Given the description of an element on the screen output the (x, y) to click on. 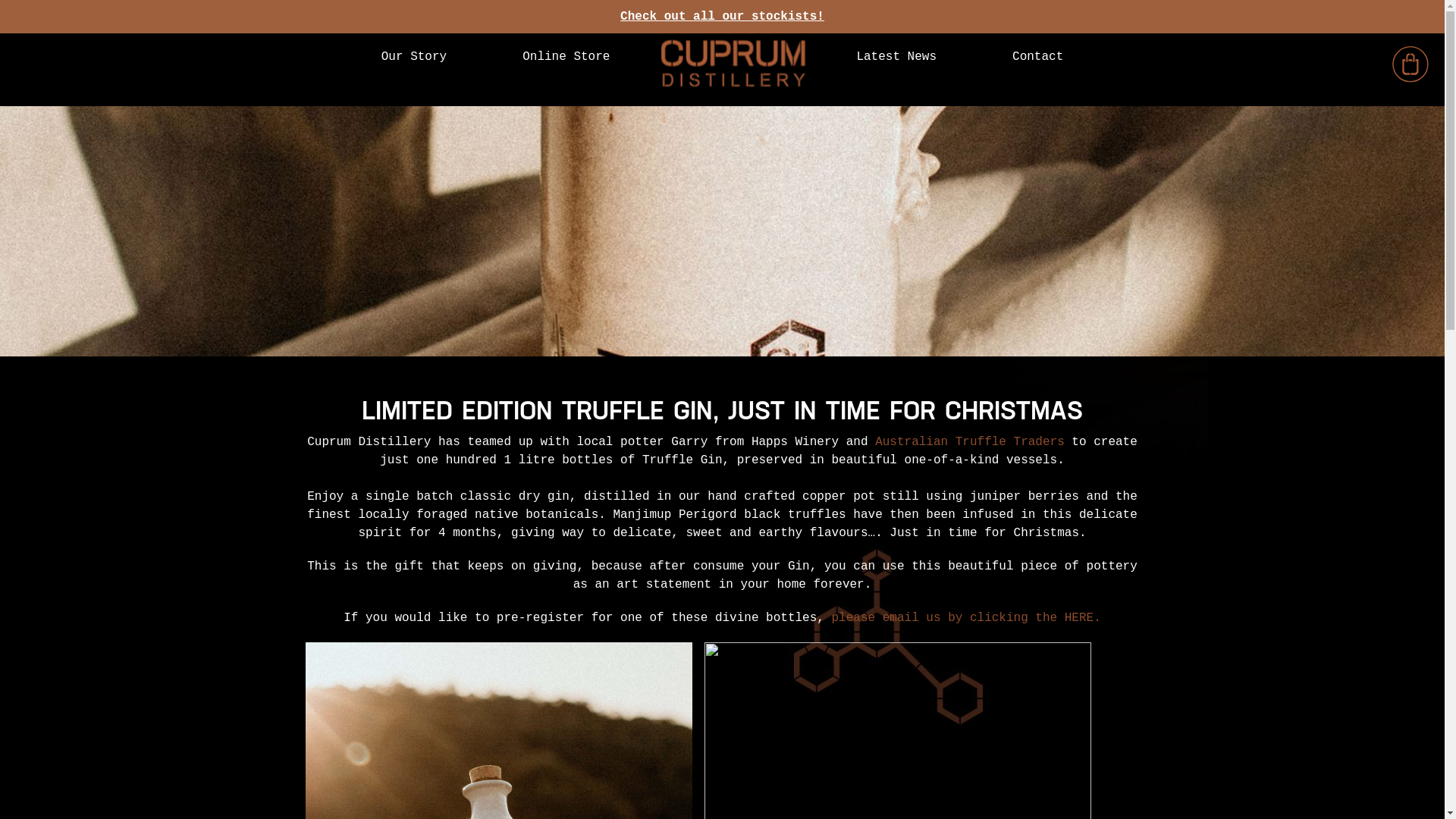
Contact Element type: text (1037, 55)
Online Store Element type: text (565, 55)
View your shopping cart Element type: hover (1410, 67)
Australian Truffle Traders Element type: text (969, 441)
Our Story Element type: text (413, 55)
Check out all our stockists! Element type: text (722, 16)
please email us by clicking the HERE. Element type: text (966, 617)
Latest News Element type: text (896, 55)
